Given the description of an element on the screen output the (x, y) to click on. 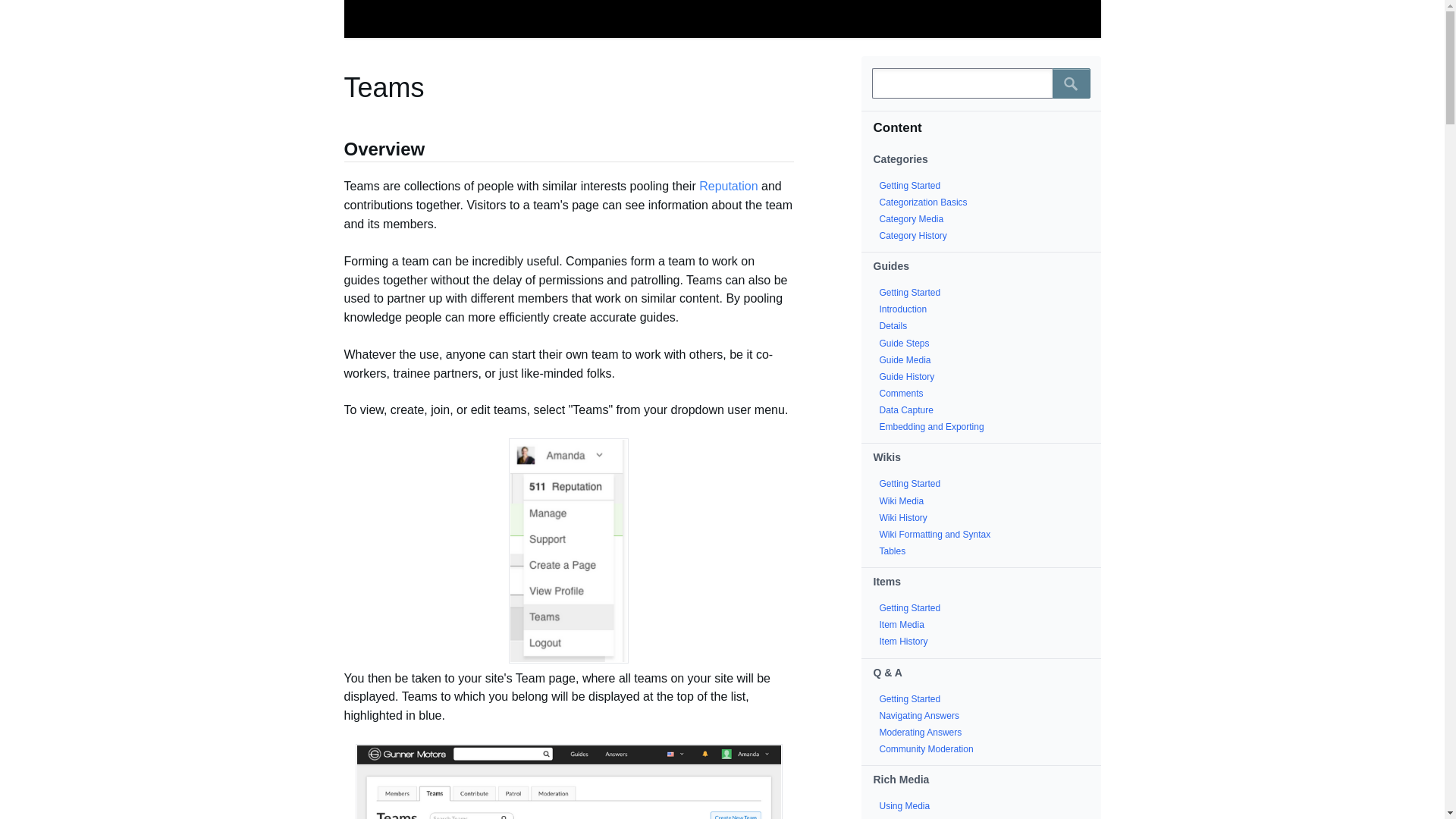
Details (893, 326)
Wiki Formatting and Syntax (935, 534)
Getting Started (909, 698)
Wiki Media (901, 501)
Item History (903, 641)
Link to this section (336, 151)
Guide Steps (904, 343)
Embedding and Exporting (931, 426)
Getting Started (909, 185)
Guide History (906, 376)
Wiki History (903, 517)
Comments (901, 393)
Getting Started (909, 483)
Getting Started (909, 607)
Navigating Answers (919, 715)
